Given the description of an element on the screen output the (x, y) to click on. 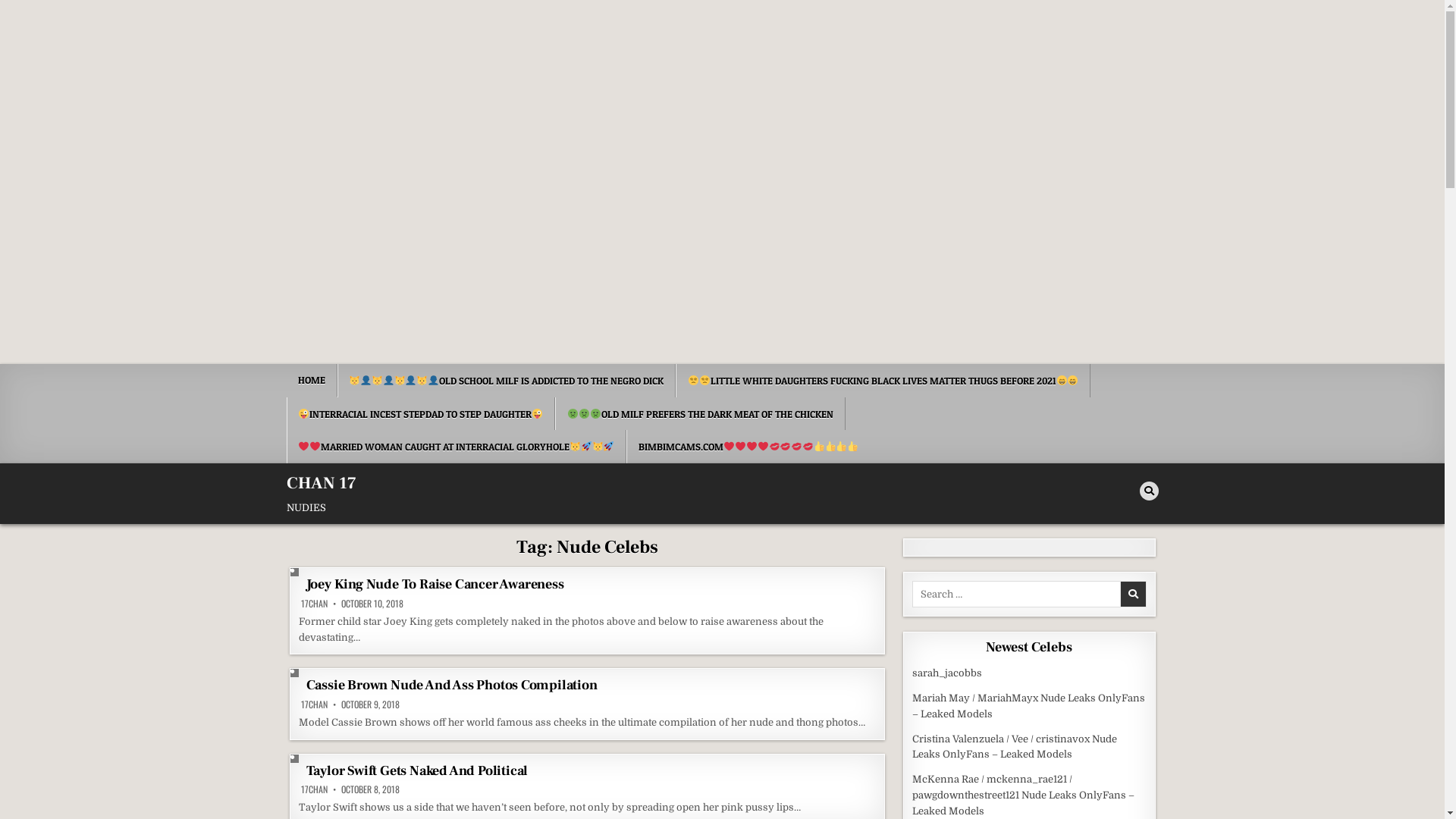
BIMBIMCAMS.COM Element type: text (747, 446)
Taylor Swift Gets Naked And Political Element type: text (417, 770)
17CHAN Element type: text (313, 603)
INTERRACIAL INCEST STEPDAD TO STEP DAUGHTER Element type: text (420, 413)
sarah_jacobbs Element type: text (947, 672)
17CHAN Element type: text (313, 704)
Search Element type: hover (1148, 490)
17CHAN Element type: text (313, 788)
HOME Element type: text (311, 380)
Cassie Brown Nude And Ass Photos Compilation Element type: text (451, 684)
Joey King Nude To Raise Cancer Awareness Element type: text (435, 584)
OLD MILF PREFERS THE DARK MEAT OF THE CHICKEN Element type: text (699, 413)
CHAN 17 Element type: text (321, 482)
